Given the description of an element on the screen output the (x, y) to click on. 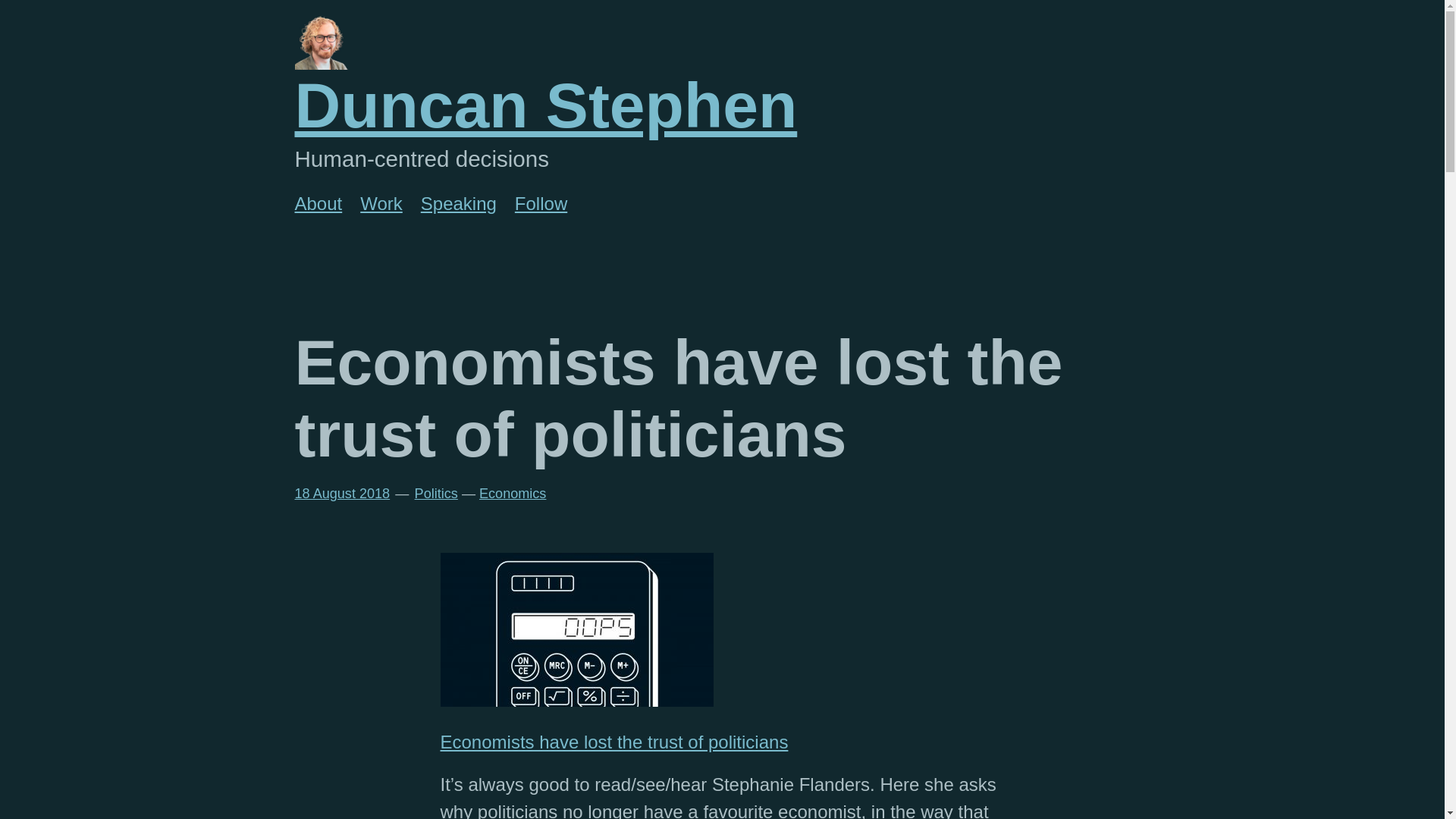
Work (381, 203)
Politics (436, 493)
Economics (512, 493)
18 August 2018 (342, 493)
Economists have lost the trust of politicians (613, 742)
About (318, 203)
Follow (541, 203)
Speaking (458, 203)
Duncan Stephen (545, 104)
